Given the description of an element on the screen output the (x, y) to click on. 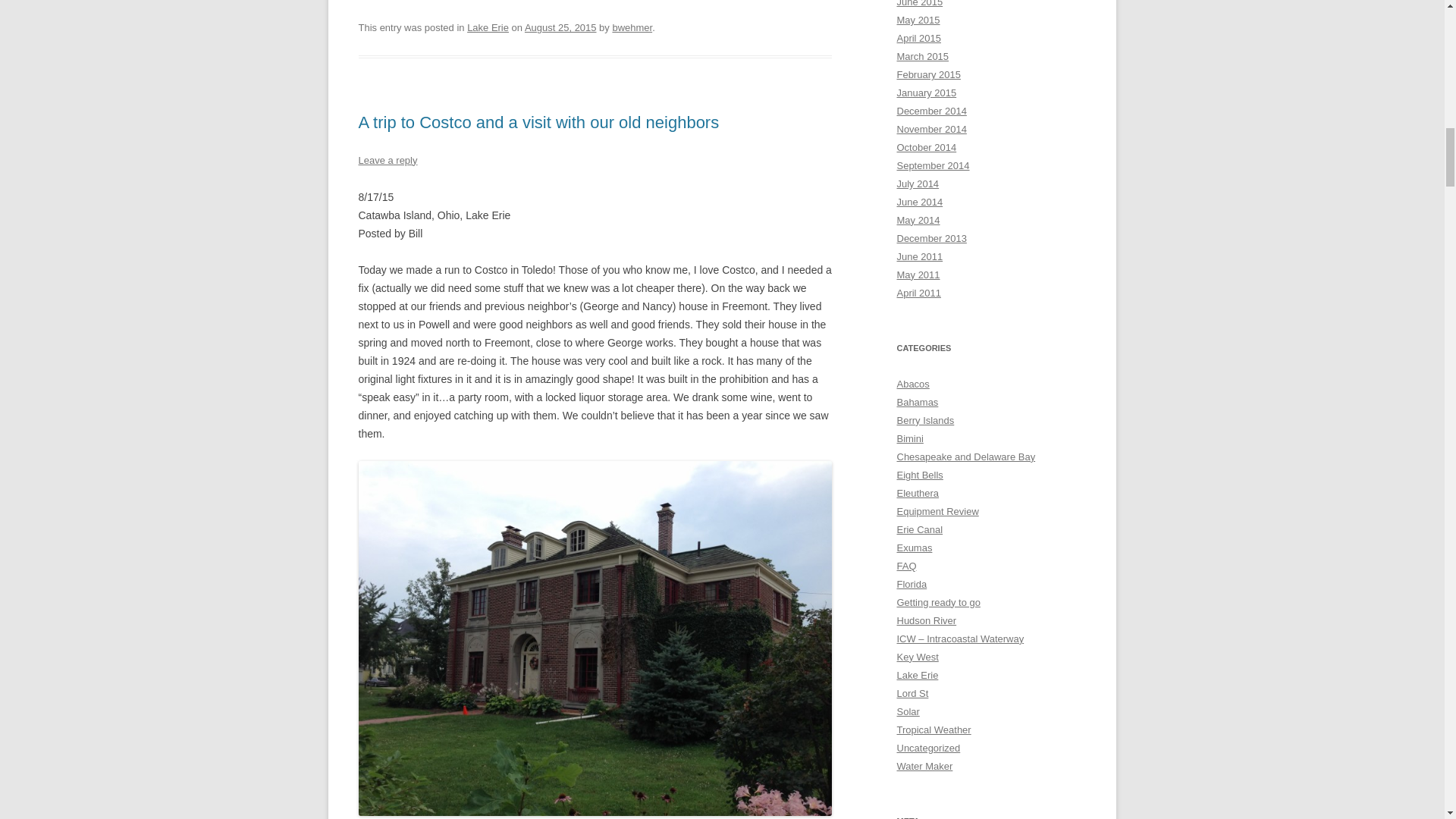
A trip to Costco and a visit with our old neighbors (538, 122)
bwehmer (631, 27)
August 25, 2015 (560, 27)
Lake Erie (487, 27)
Leave a reply (387, 160)
4:24 pm (560, 27)
View all posts by bwehmer (631, 27)
